Given the description of an element on the screen output the (x, y) to click on. 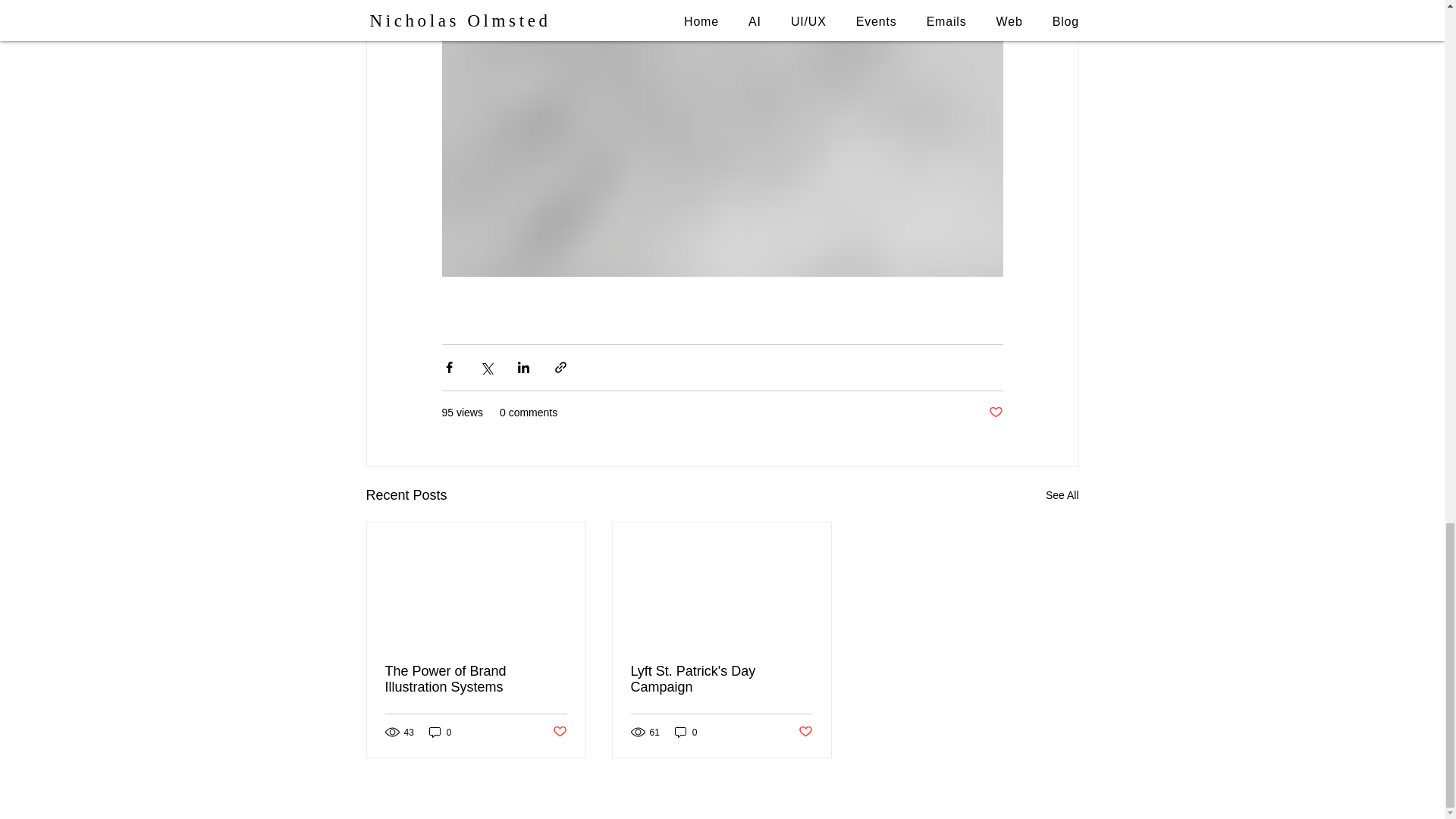
The Power of Brand Illustration Systems (476, 679)
Post not marked as liked (558, 731)
Post not marked as liked (804, 731)
Post not marked as liked (995, 412)
0 (685, 731)
See All (1061, 495)
Lyft St. Patrick's Day Campaign (721, 679)
0 (440, 731)
